Given the description of an element on the screen output the (x, y) to click on. 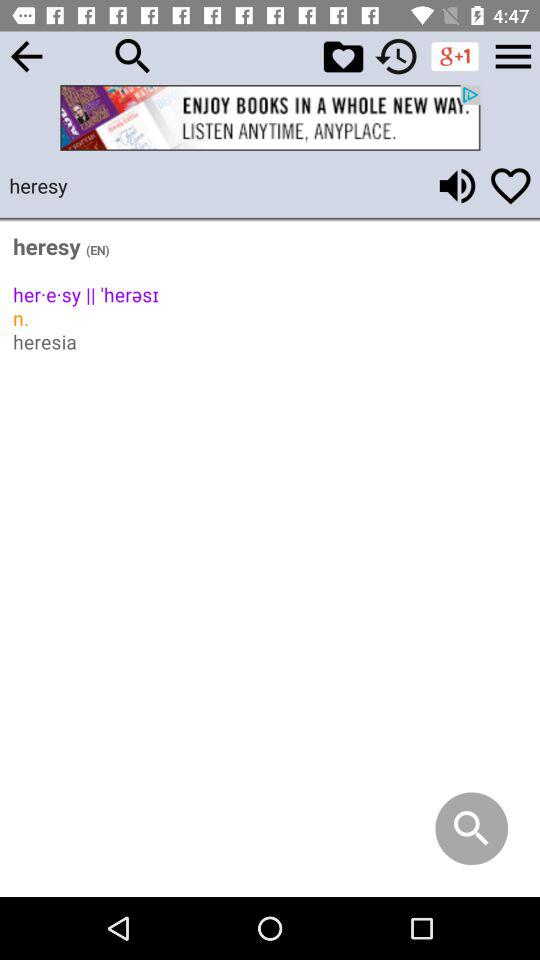
view favorites (343, 56)
